Given the description of an element on the screen output the (x, y) to click on. 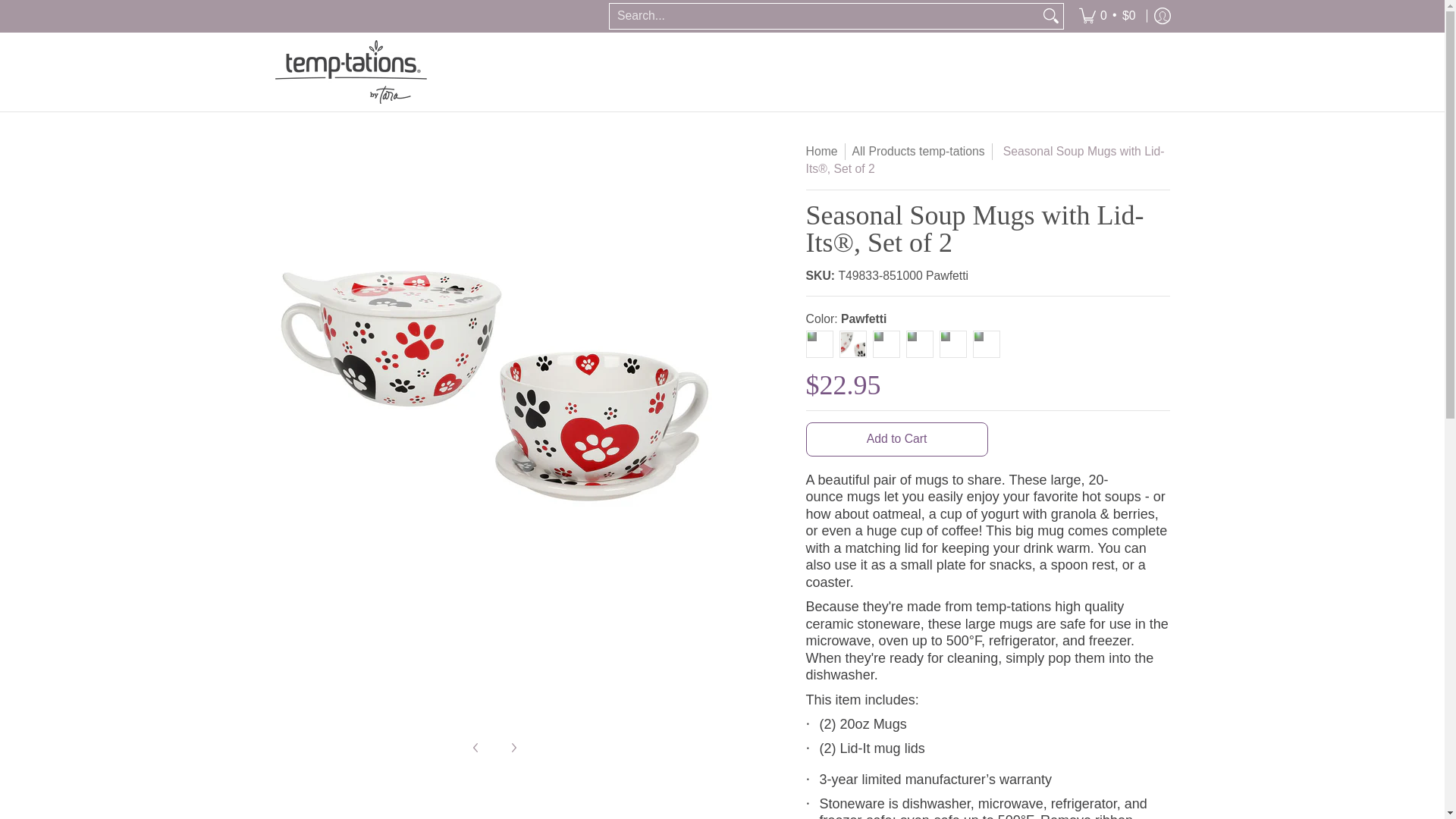
Shamrock (919, 343)
Garden (952, 343)
Log in (1161, 16)
Egghunt (885, 343)
Gnomes (986, 343)
Cart (1107, 16)
Temp-tations LLC (350, 70)
Pawfetti (853, 343)
Patriotic (819, 343)
